Given the description of an element on the screen output the (x, y) to click on. 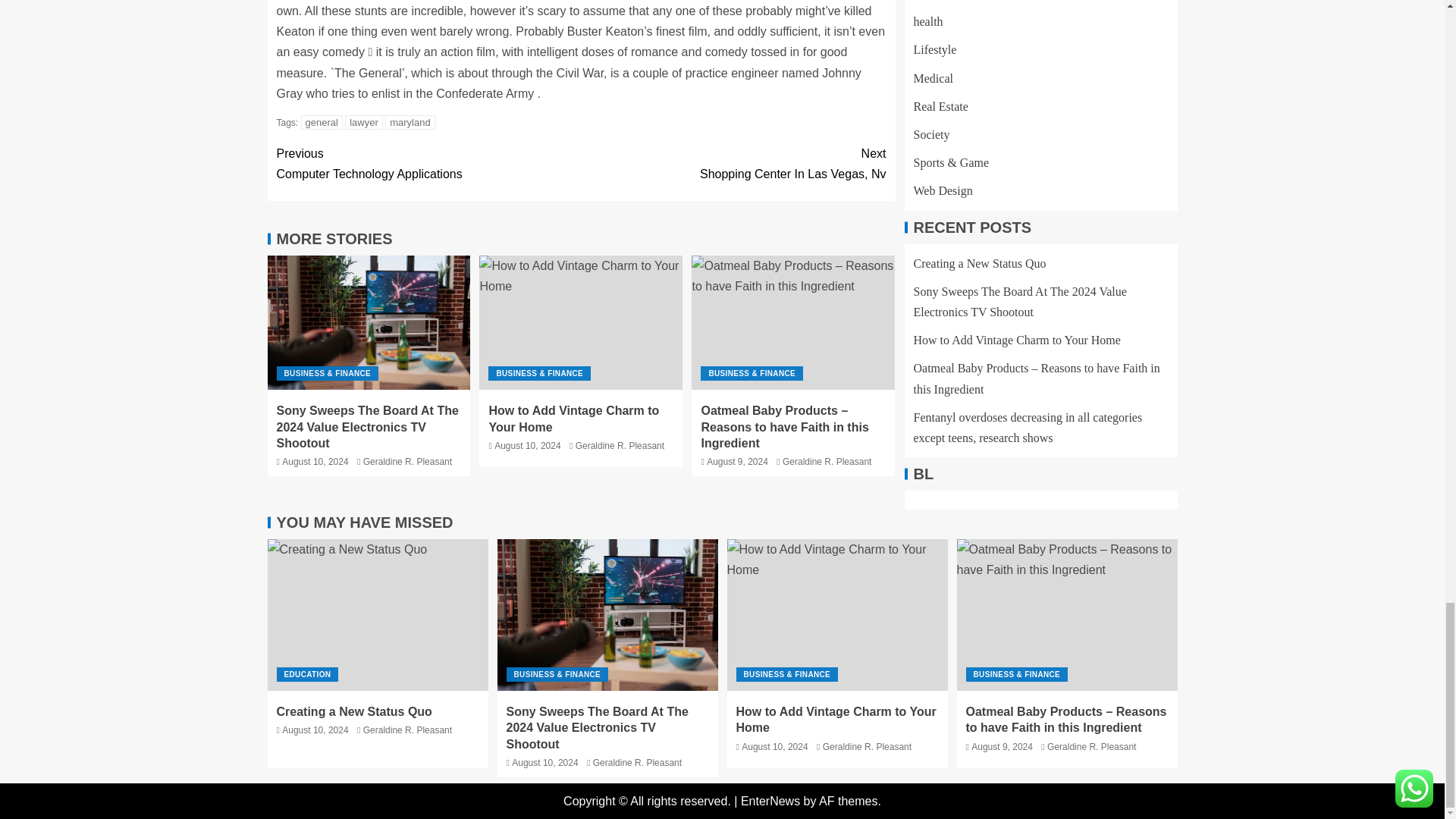
lawyer (363, 122)
maryland (409, 122)
general (428, 163)
How to Add Vintage Charm to Your Home (321, 122)
